Given the description of an element on the screen output the (x, y) to click on. 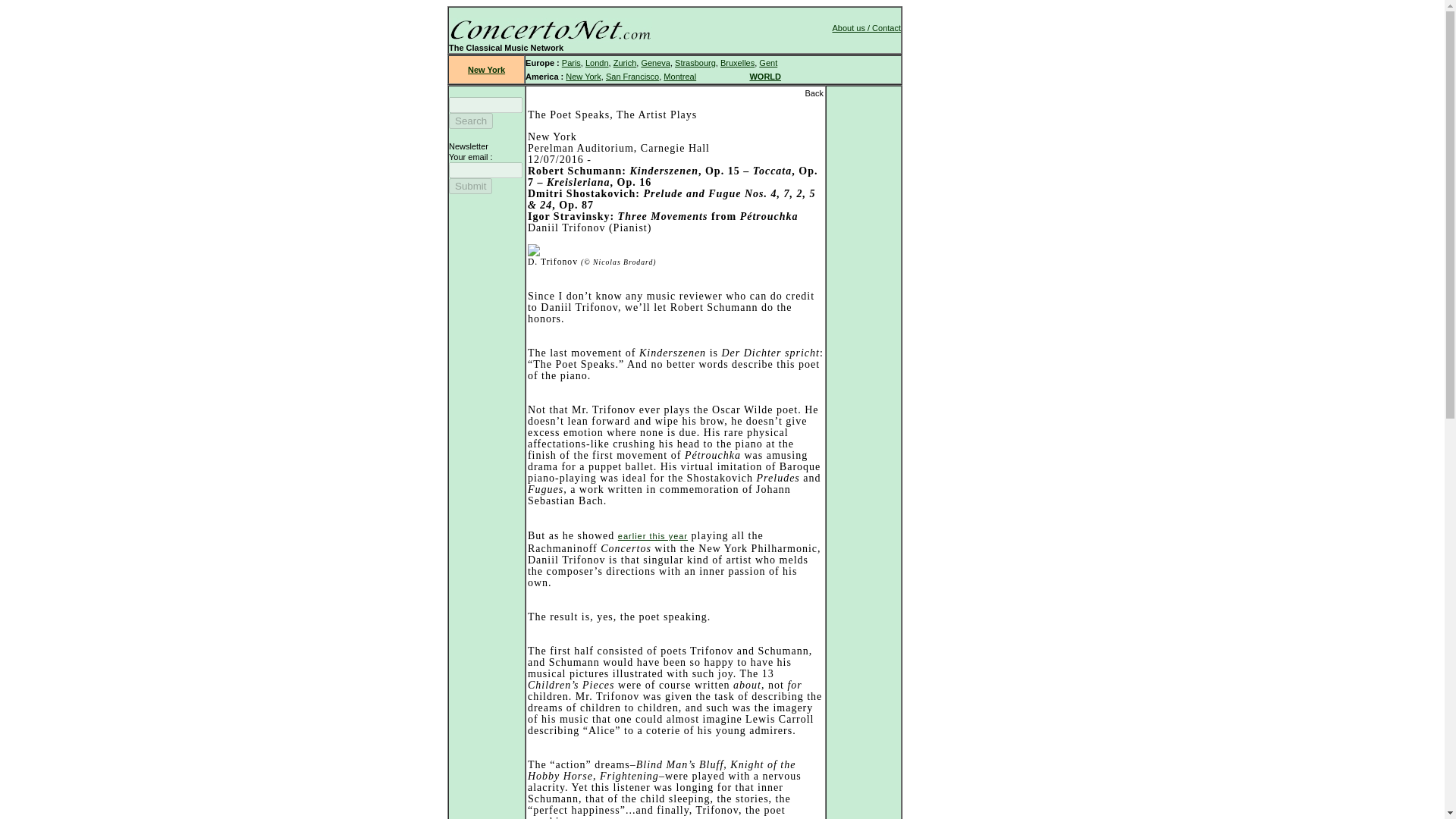
Geneva (654, 62)
Back (814, 92)
Londn (596, 62)
WORLD (764, 76)
Submit (470, 186)
New York (582, 76)
Zurich (624, 62)
earlier this year (652, 535)
Search (470, 120)
Submit (470, 186)
